Given the description of an element on the screen output the (x, y) to click on. 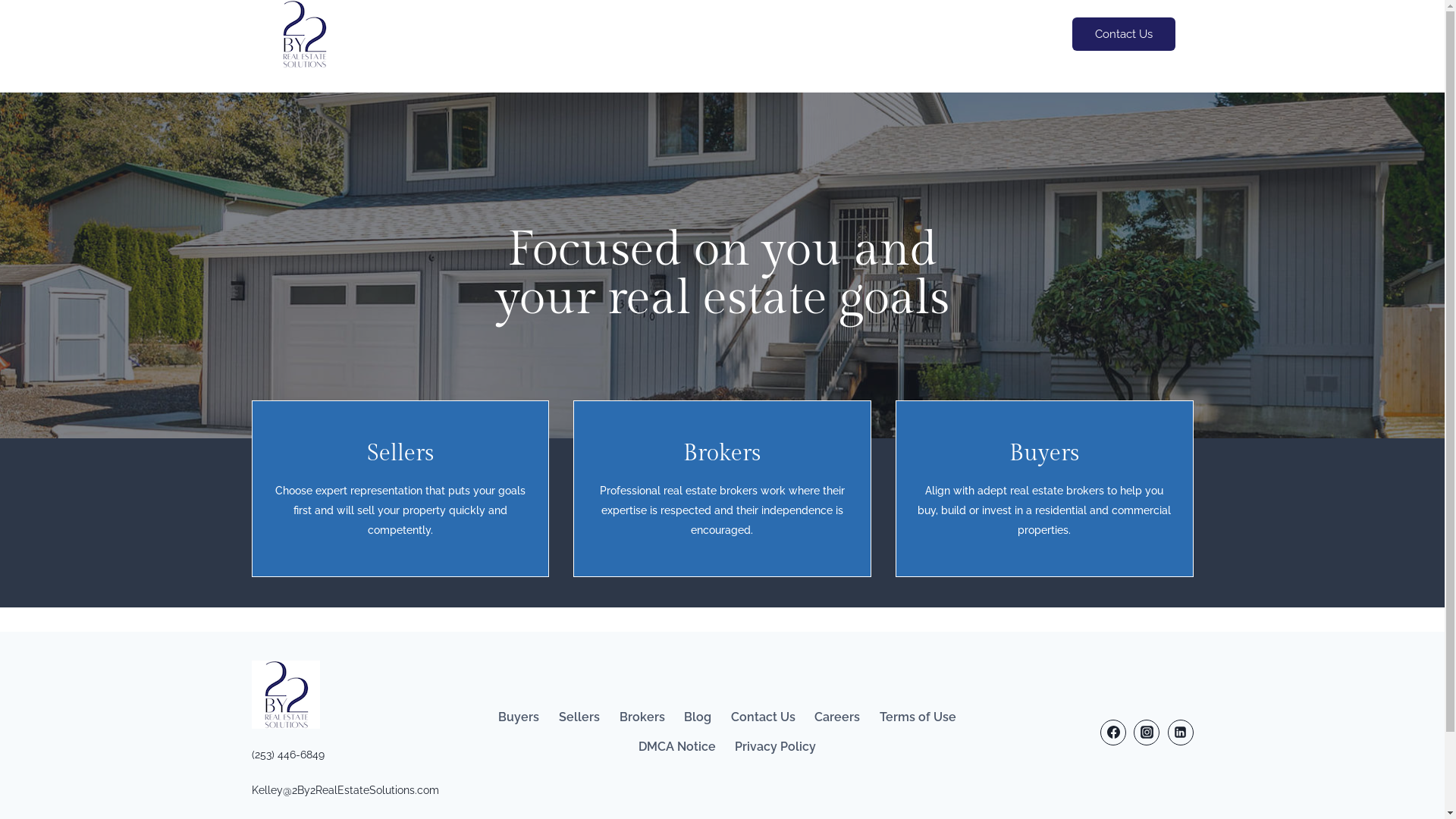
Brokers Element type: text (641, 716)
Privacy Policy Element type: text (775, 746)
DMCA Notice Element type: text (676, 746)
Buyers Element type: text (519, 716)
Contact Us Element type: text (1123, 34)
Blog Element type: text (697, 716)
Brokers Element type: text (721, 453)
Careers Element type: text (837, 716)
Sellers Element type: text (579, 716)
Contact Us Element type: text (763, 716)
Terms of Use Element type: text (917, 716)
